Given the description of an element on the screen output the (x, y) to click on. 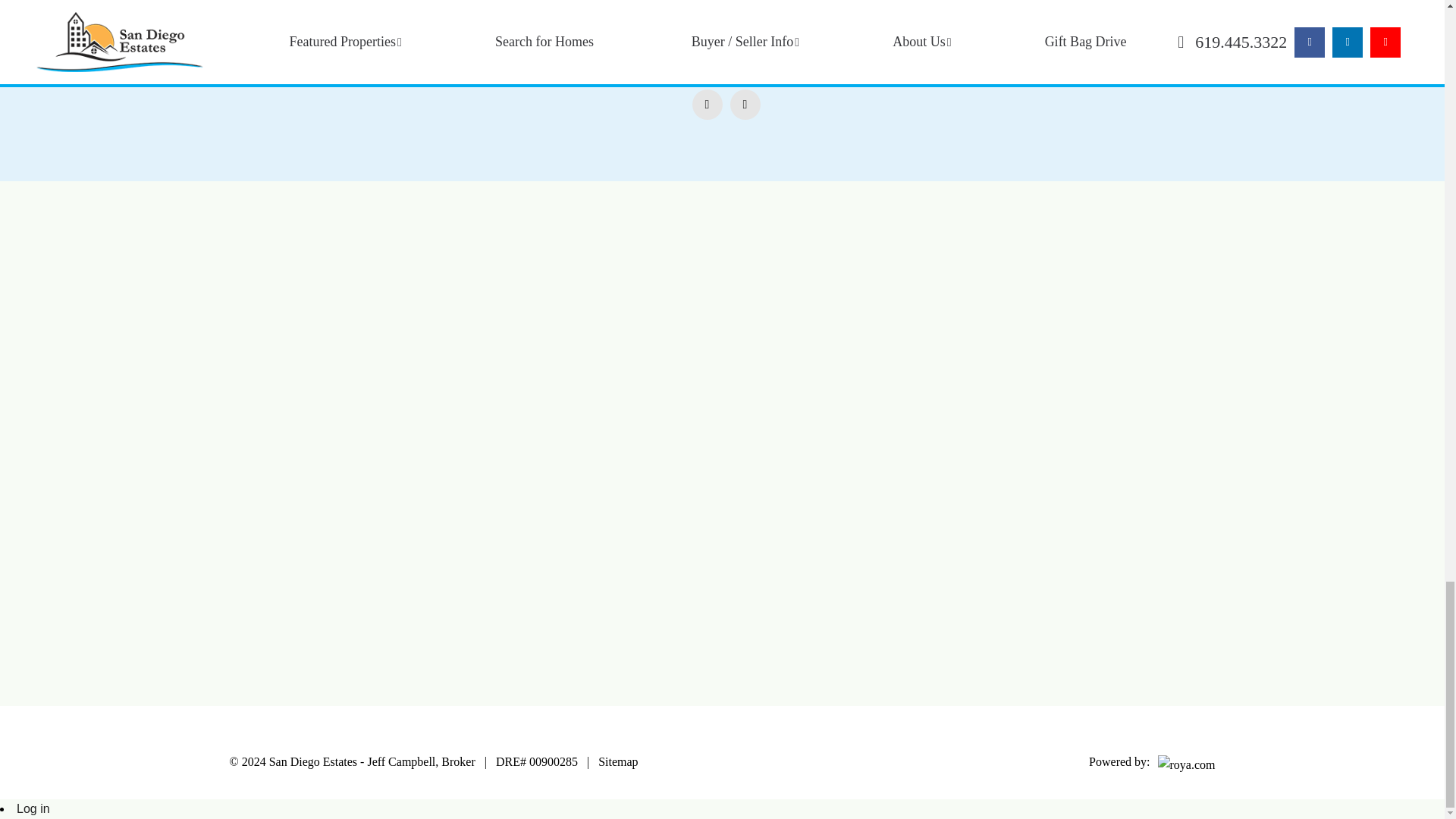
Log in (32, 808)
Sitemap (617, 761)
Roya (1186, 764)
Powered by: (1147, 762)
